Given the description of an element on the screen output the (x, y) to click on. 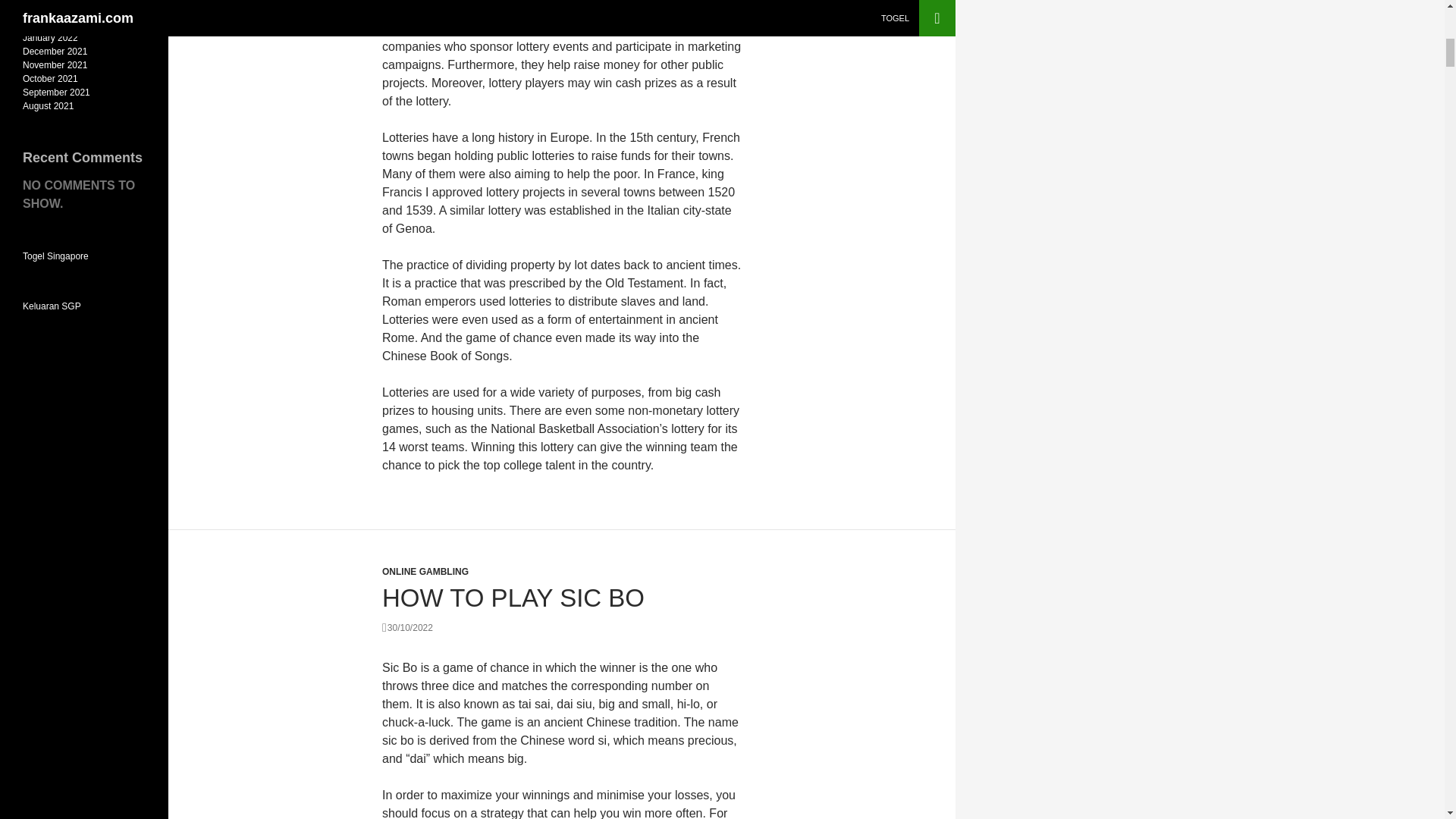
HOW TO PLAY SIC BO (513, 597)
ONLINE GAMBLING (424, 571)
